Given the description of an element on the screen output the (x, y) to click on. 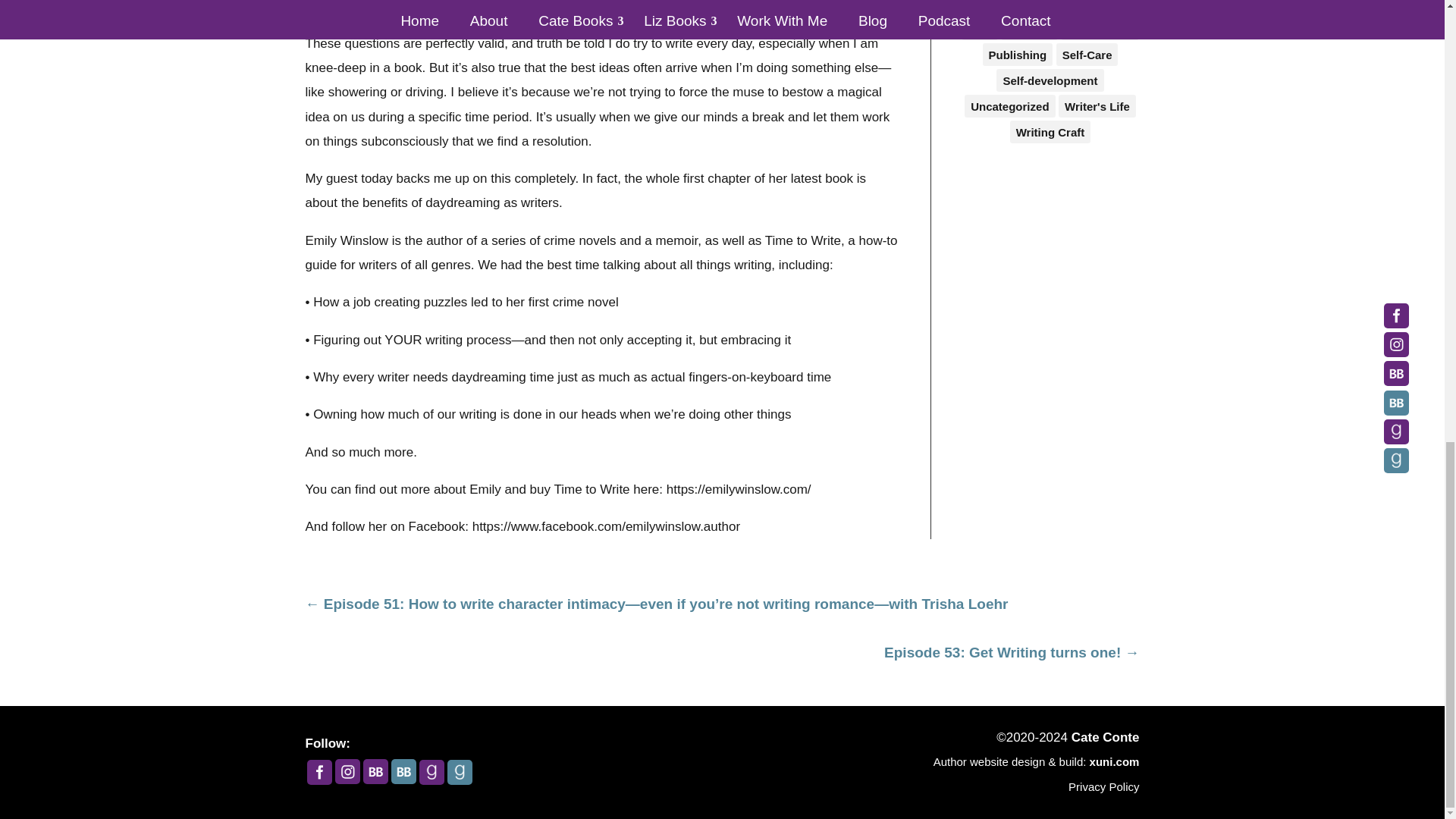
Publishing (1017, 54)
Pets (978, 28)
Productivity (1099, 28)
Self-Care (1087, 54)
Podcast (1029, 28)
Pawsitively Organic Mysteries (1049, 7)
